Given the description of an element on the screen output the (x, y) to click on. 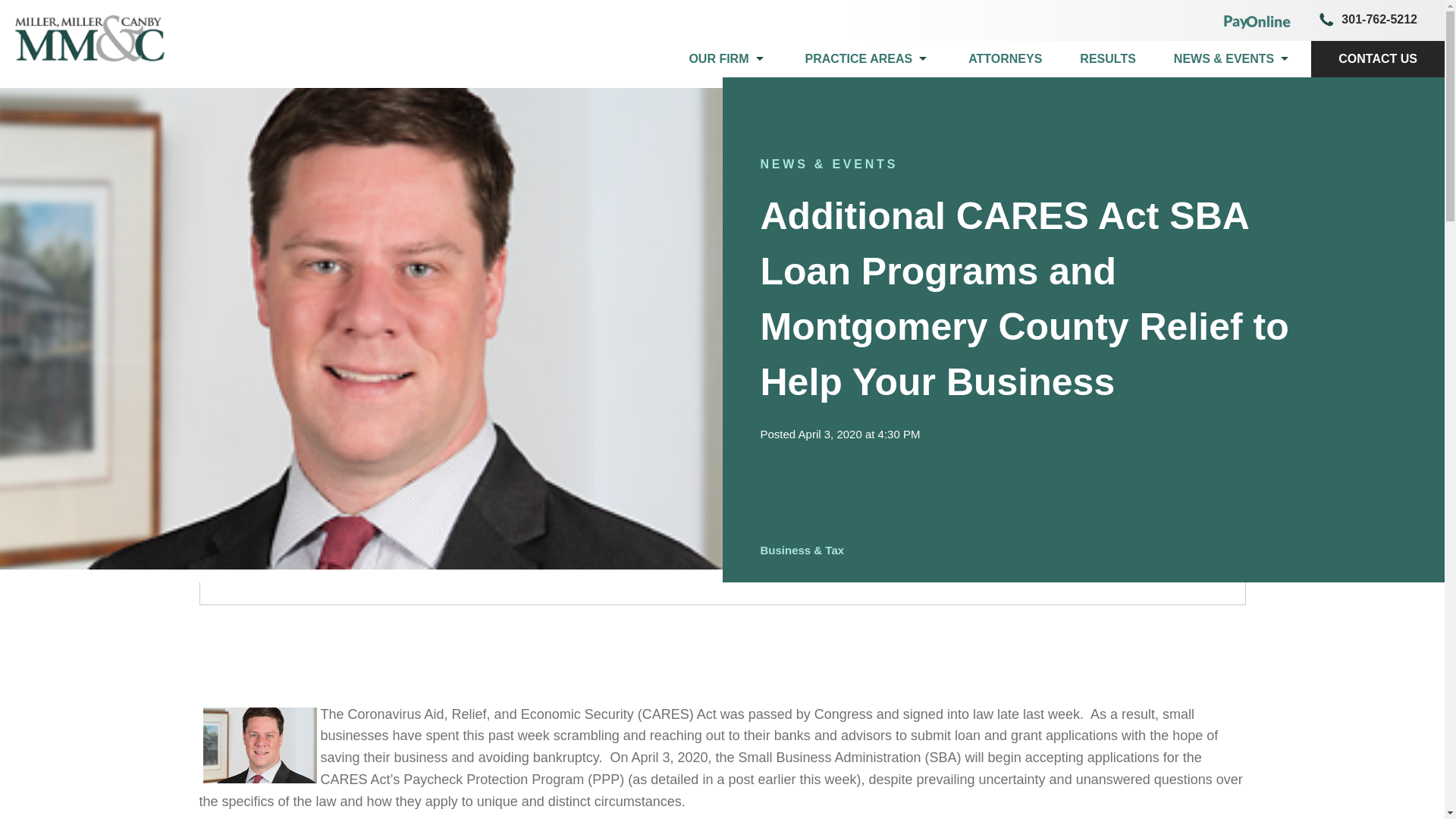
OUR FIRM (727, 58)
PRACTICE AREAS (868, 58)
ATTORNEYS (1005, 58)
payonline (1257, 20)
301-762-5212 (1365, 20)
